Given the description of an element on the screen output the (x, y) to click on. 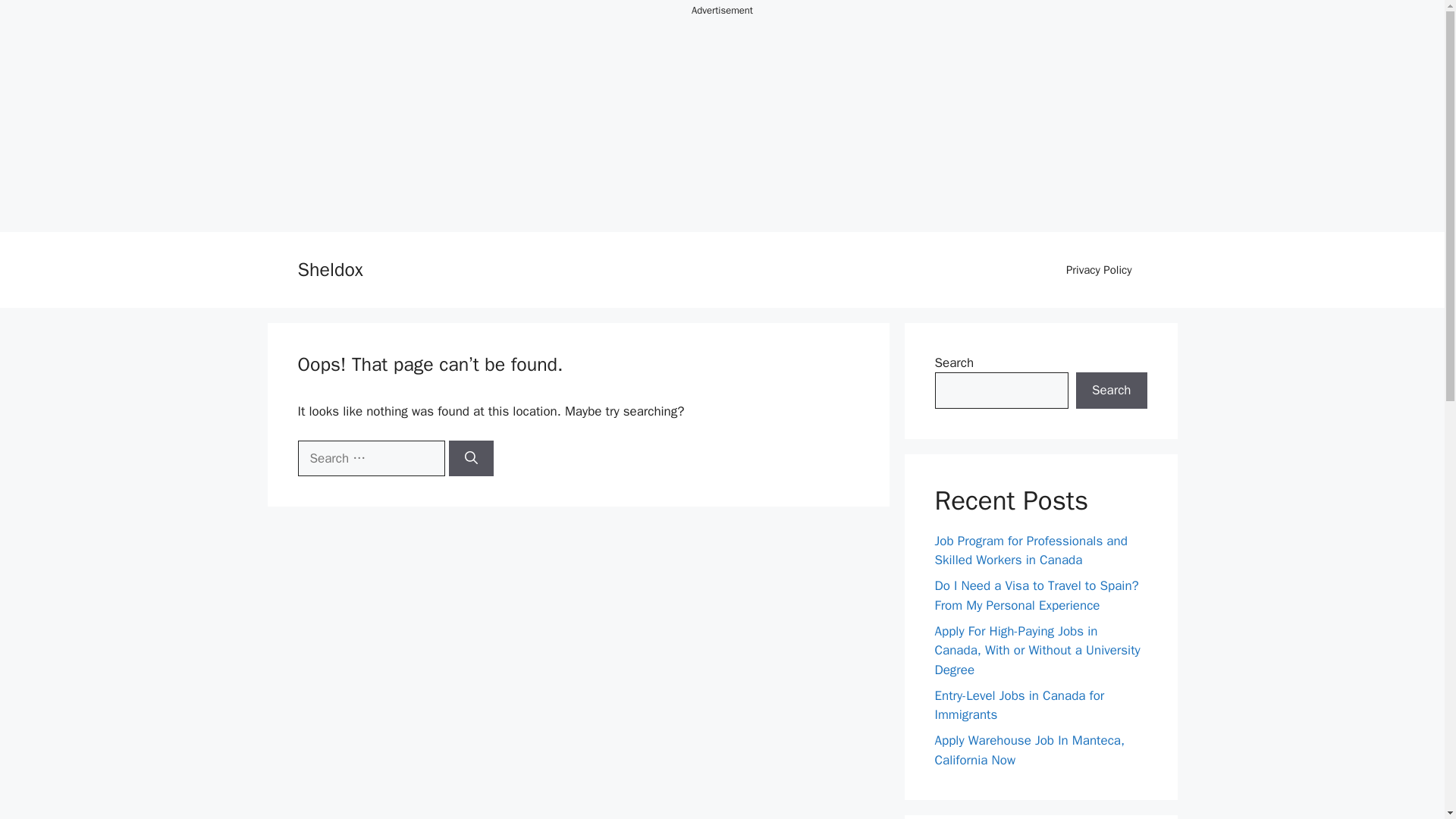
Entry-Level Jobs in Canada for Immigrants (1018, 704)
Job Program for Professionals and Skilled Workers in Canada (1030, 550)
Search for: (370, 457)
Search (1111, 390)
Apply Warehouse Job In Manteca, California Now (1029, 750)
Privacy Policy (1099, 269)
Sheldox (329, 269)
